Given the description of an element on the screen output the (x, y) to click on. 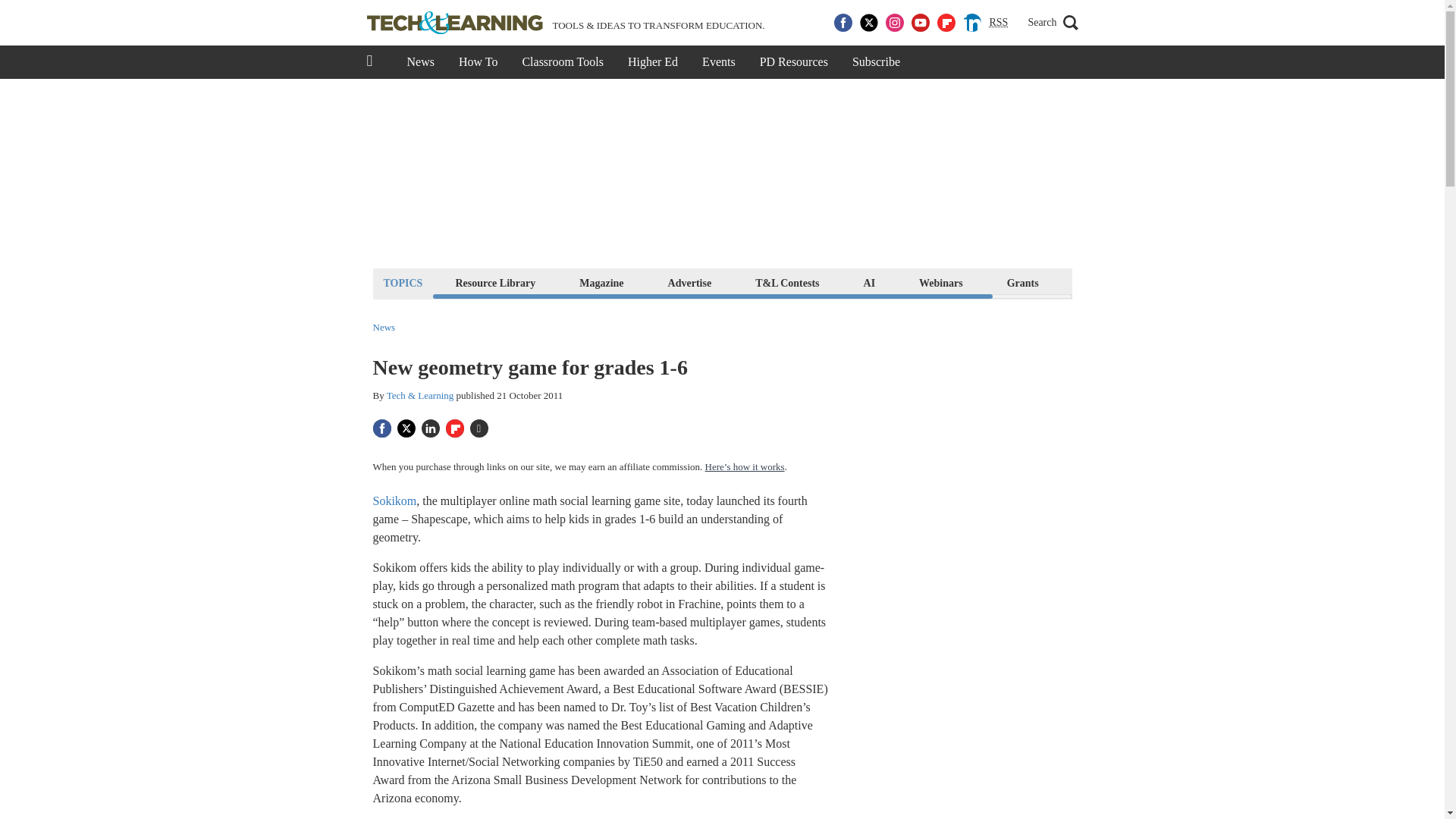
Sokikom (394, 500)
Webinars (941, 282)
How To (477, 61)
RSS (997, 22)
AI (869, 282)
Subscribe (876, 61)
What to Buy (1111, 282)
Advertise (689, 282)
Higher Ed (652, 61)
Grants (1022, 282)
PD Resources (794, 61)
Classroom Tools (561, 61)
Events (719, 61)
Really Simple Syndication (997, 21)
News (419, 61)
